Given the description of an element on the screen output the (x, y) to click on. 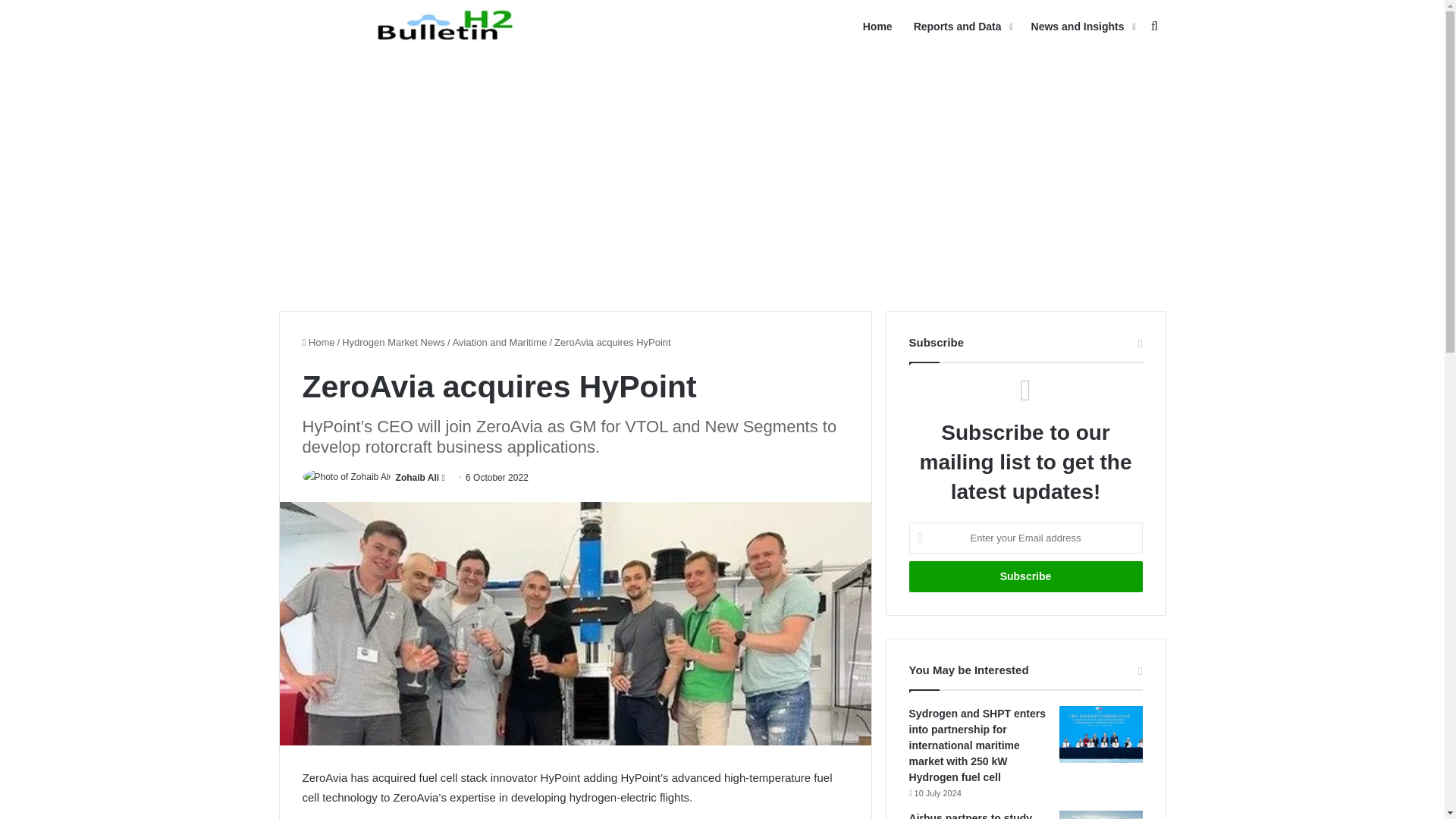
Home (317, 342)
Zohaib Ali (417, 477)
Hydrogen Market News (393, 342)
Aviation and Maritime (499, 342)
Zohaib Ali (417, 477)
Reports and Data (961, 26)
H2 Bulletin (449, 26)
Home (876, 26)
Search for (1154, 26)
Subscribe (1025, 576)
News and Insights (1081, 26)
